Given the description of an element on the screen output the (x, y) to click on. 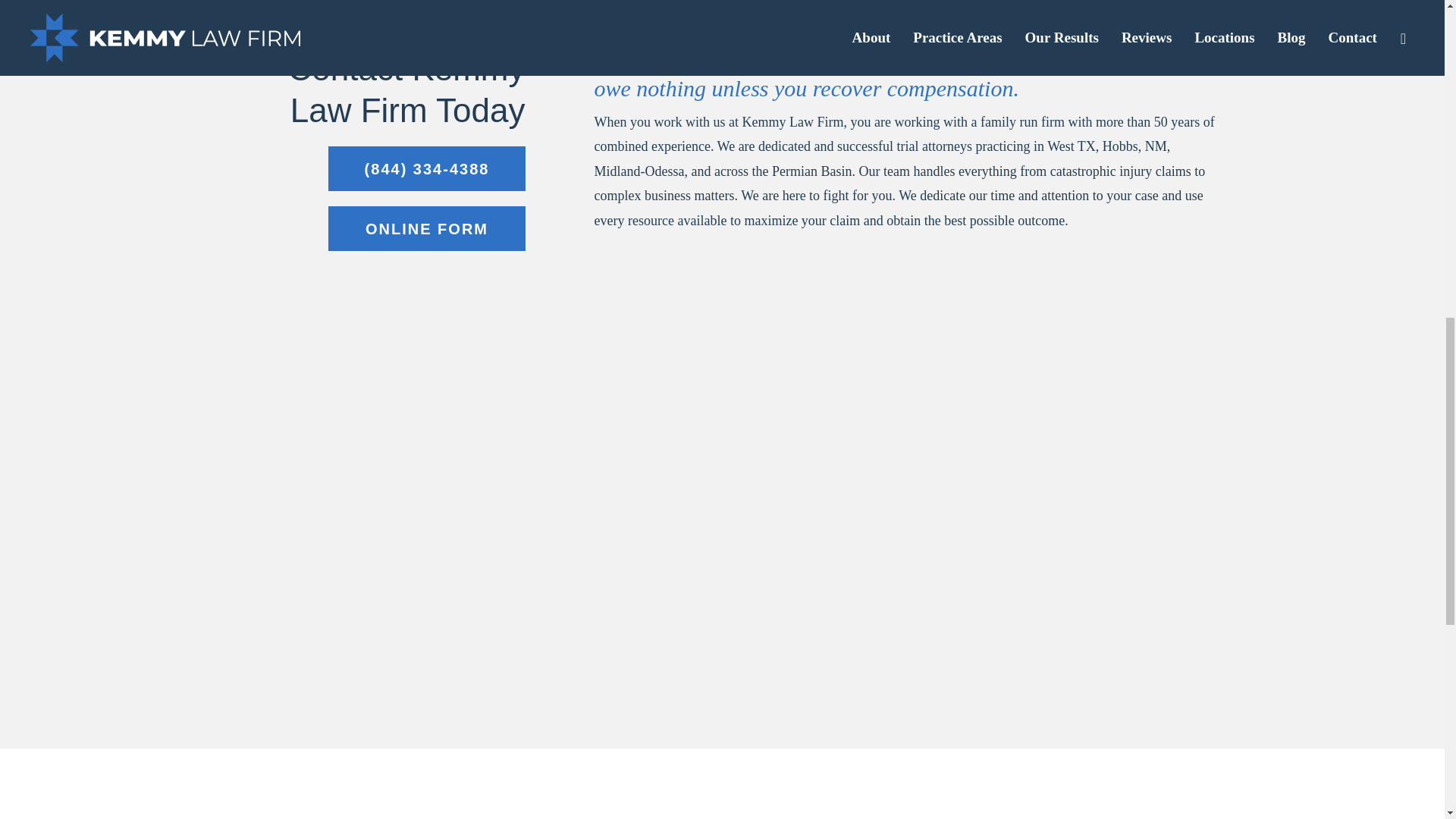
Contact Kemmy Law Firm (425, 228)
Call Kemmy Law Firm Today (425, 168)
ONLINE FORM (425, 228)
